Given the description of an element on the screen output the (x, y) to click on. 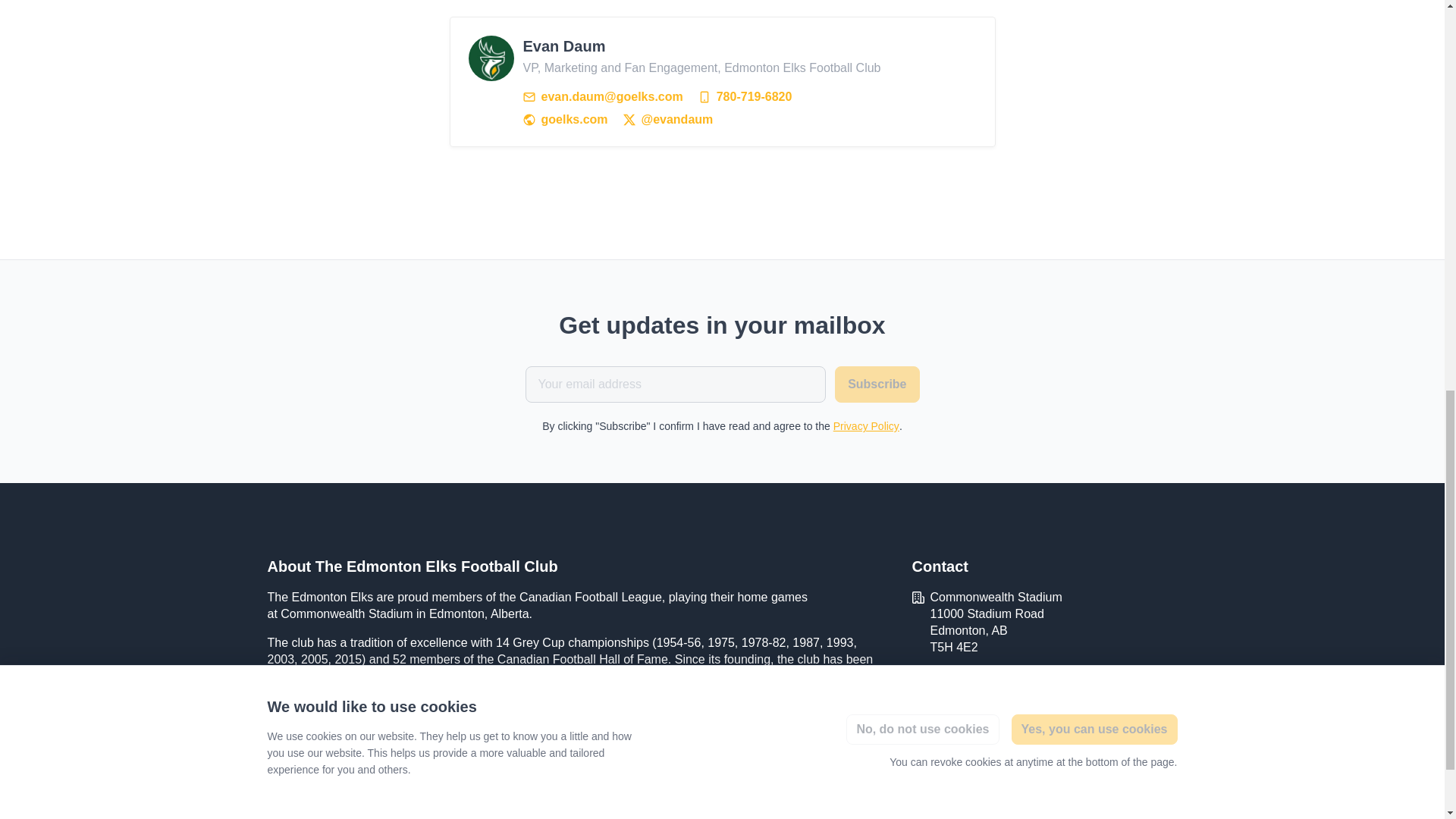
780-719-6820 (745, 96)
goelks.com (565, 119)
goelks.com (960, 676)
780-719-6820 (745, 96)
Subscribe (876, 384)
goelks.com (565, 119)
Privacy Policy (865, 426)
Evan Daum (490, 58)
